Given the description of an element on the screen output the (x, y) to click on. 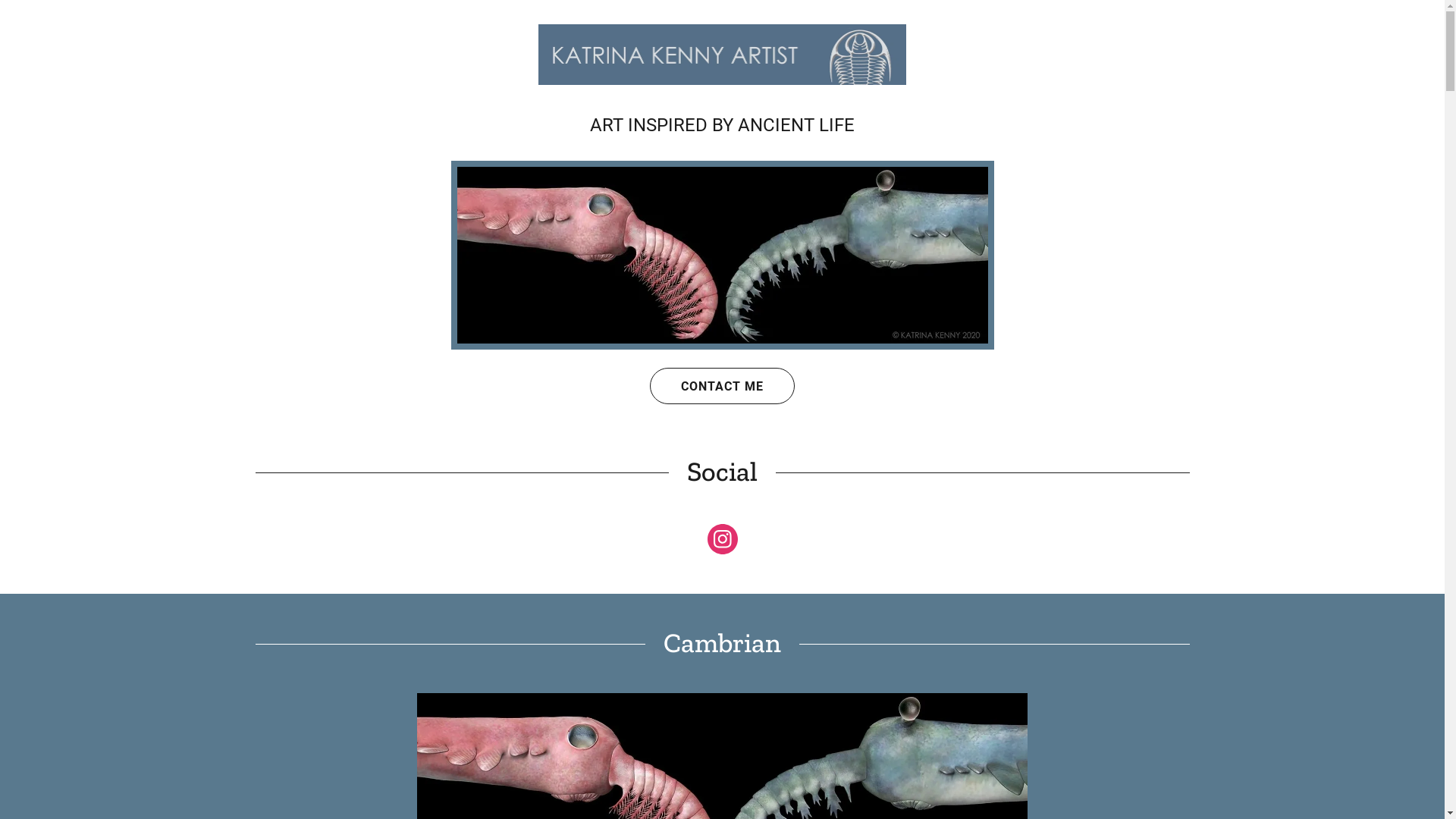
Katrina Kenny Artist Element type: hover (722, 53)
CONTACT ME Element type: text (721, 385)
